Given the description of an element on the screen output the (x, y) to click on. 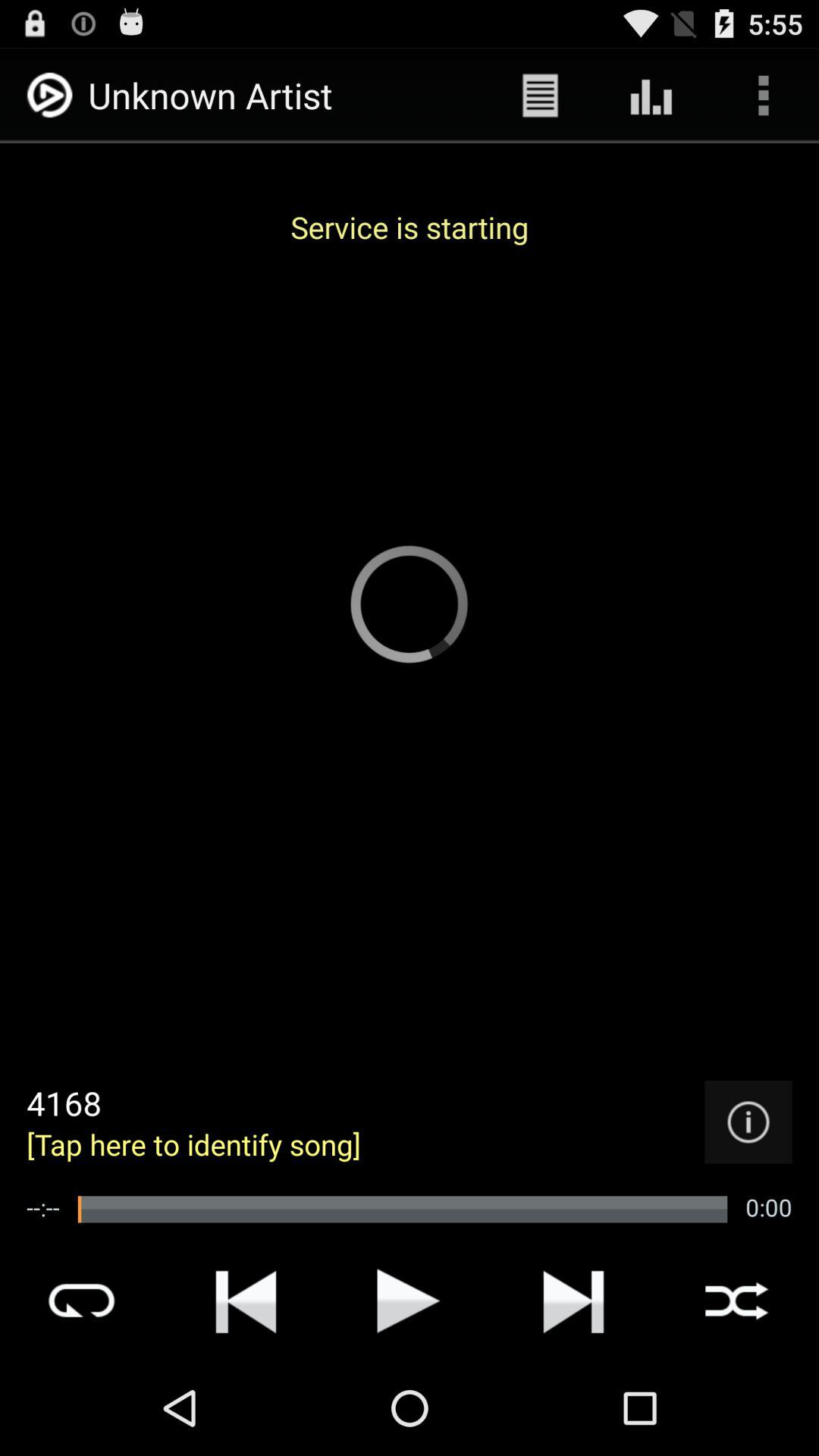
toggle play and pause option (409, 1300)
